Given the description of an element on the screen output the (x, y) to click on. 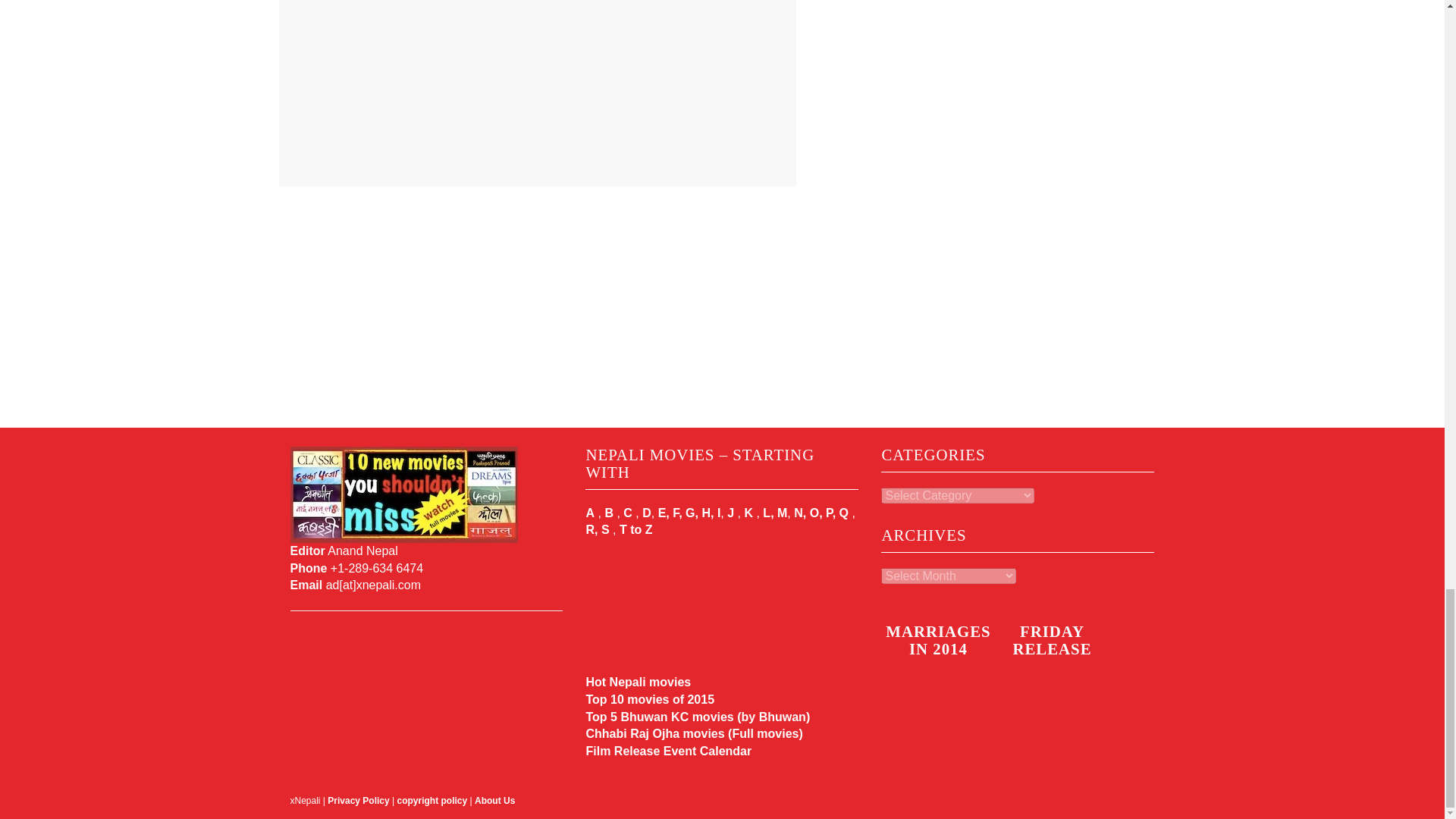
Learn how your comment data is processed (620, 146)
3rd party ad content (1017, 9)
Comment Form (536, 69)
